Given the description of an element on the screen output the (x, y) to click on. 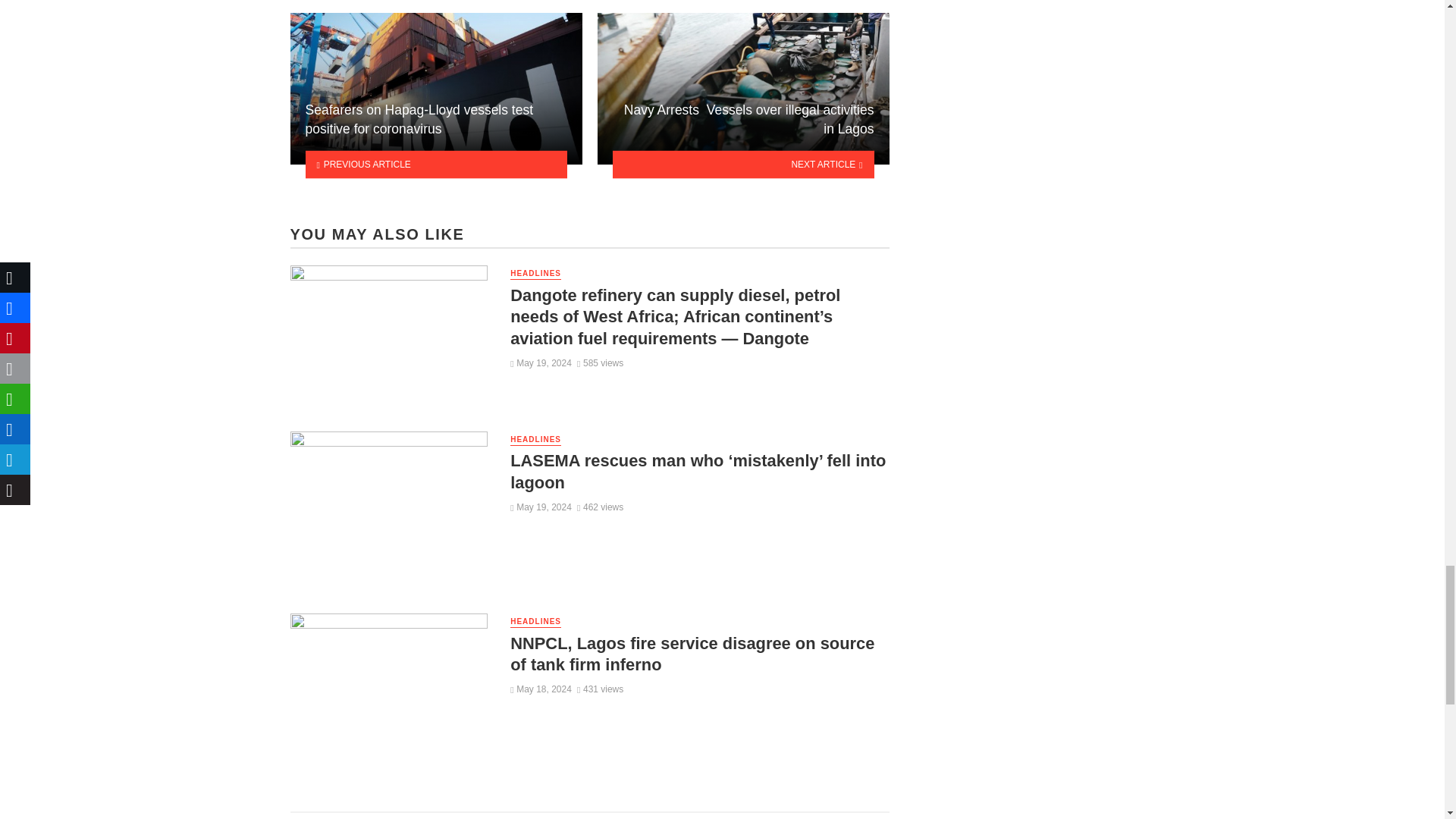
NEXT ARTICLE (742, 163)
May 18, 2024 at 12:14 am (541, 688)
May 19, 2024 at 12:15 am (541, 362)
PREVIOUS ARTICLE (434, 163)
May 19, 2024 at 12:00 am (541, 507)
